Given the description of an element on the screen output the (x, y) to click on. 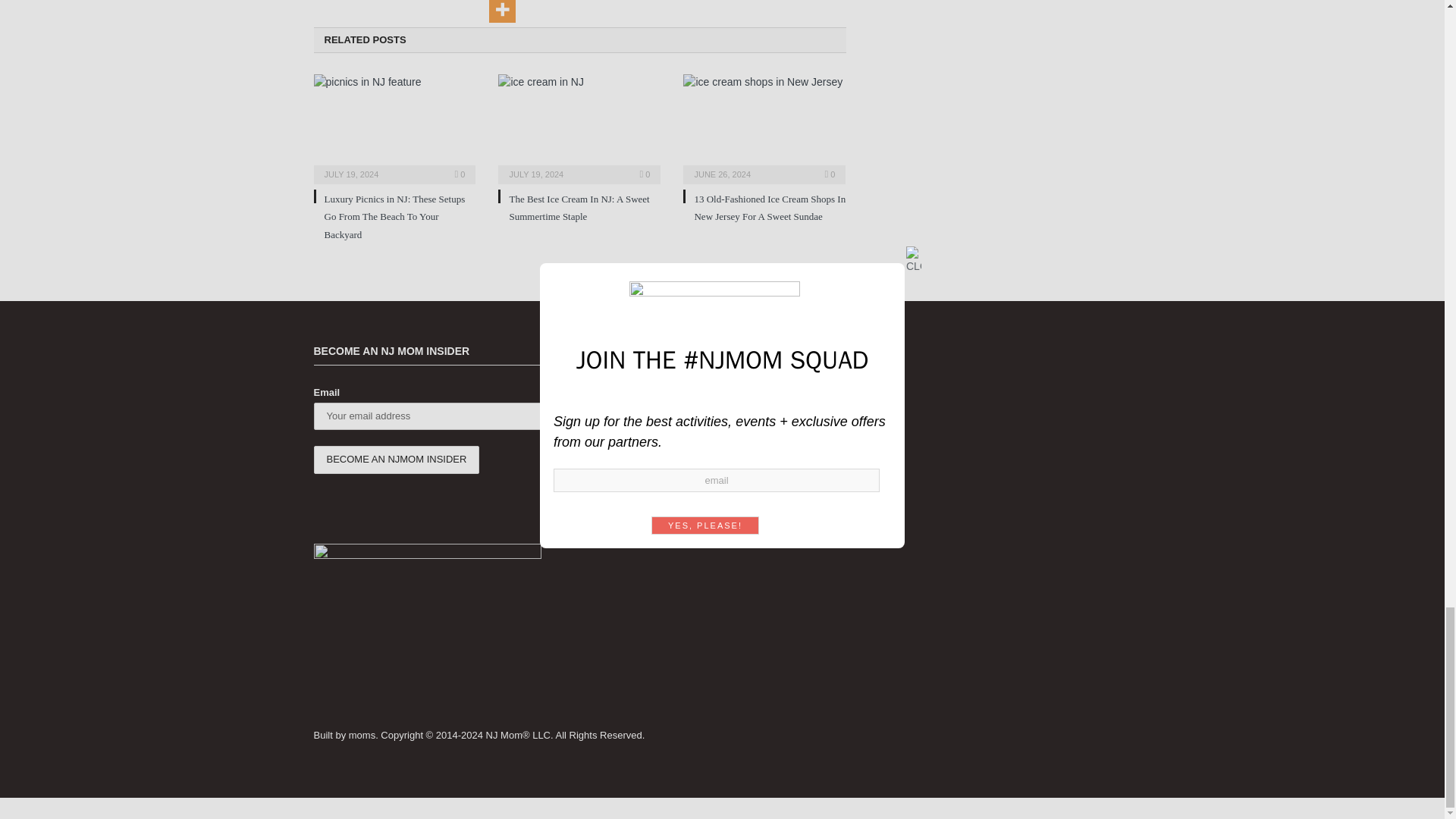
BECOME AN NJMOM INSIDER (397, 459)
The Best Ice Cream In NJ: A Sweet Summertime Staple (578, 207)
More (502, 11)
The Best Ice Cream In NJ: A Sweet Summertime Staple (579, 127)
